Given the description of an element on the screen output the (x, y) to click on. 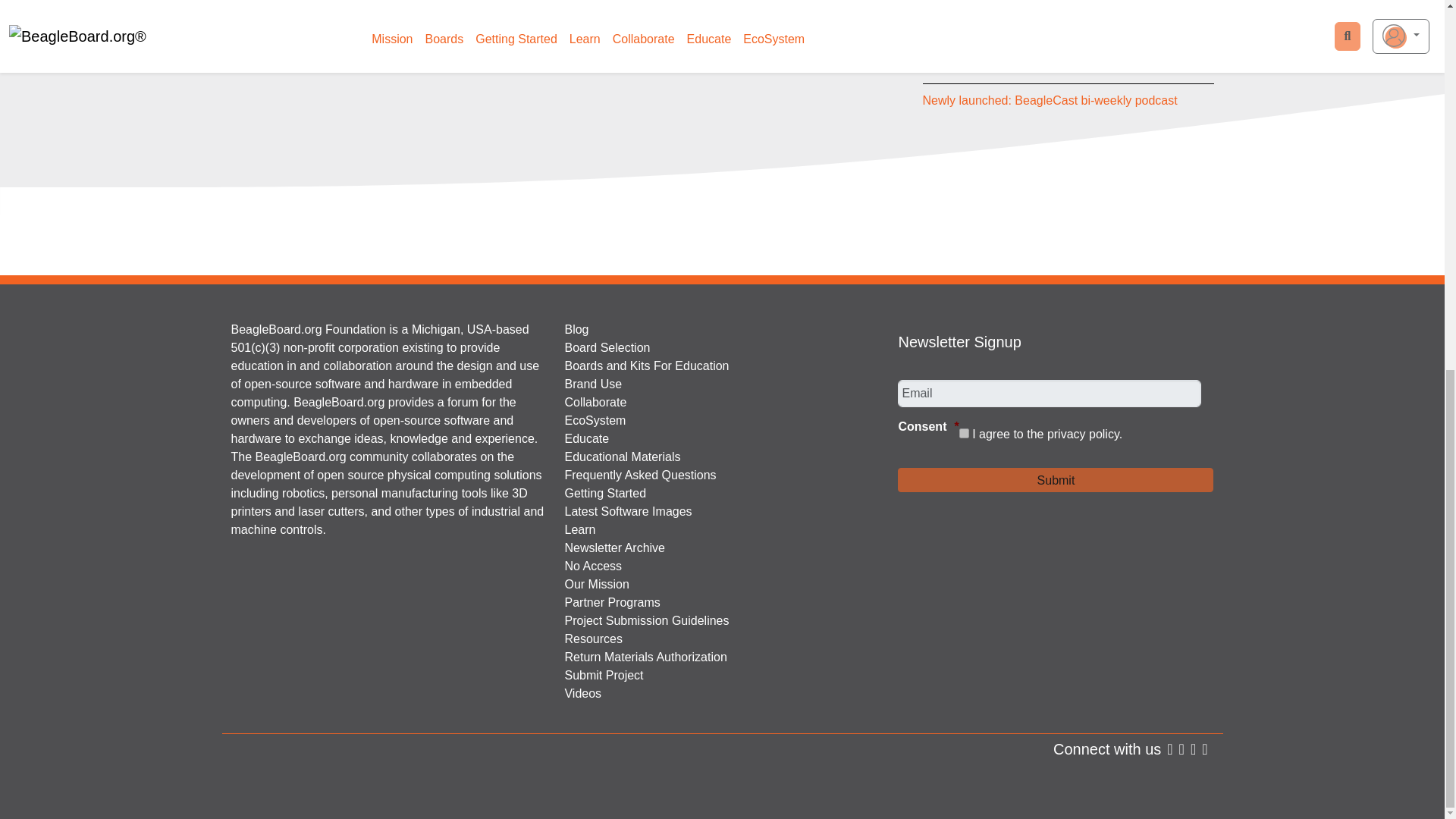
Submit (1055, 479)
1 (964, 433)
Check us out on YouTube (1203, 749)
Newly launched: BeagleCast bi-weekly podcast (1050, 100)
Follow us on Twitter (1182, 749)
